Given the description of an element on the screen output the (x, y) to click on. 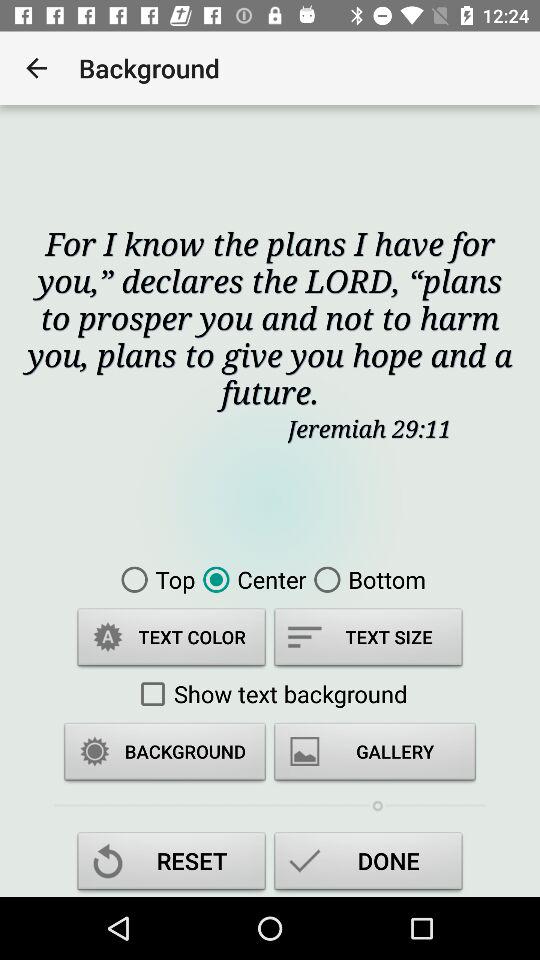
swipe to gallery icon (375, 754)
